Given the description of an element on the screen output the (x, y) to click on. 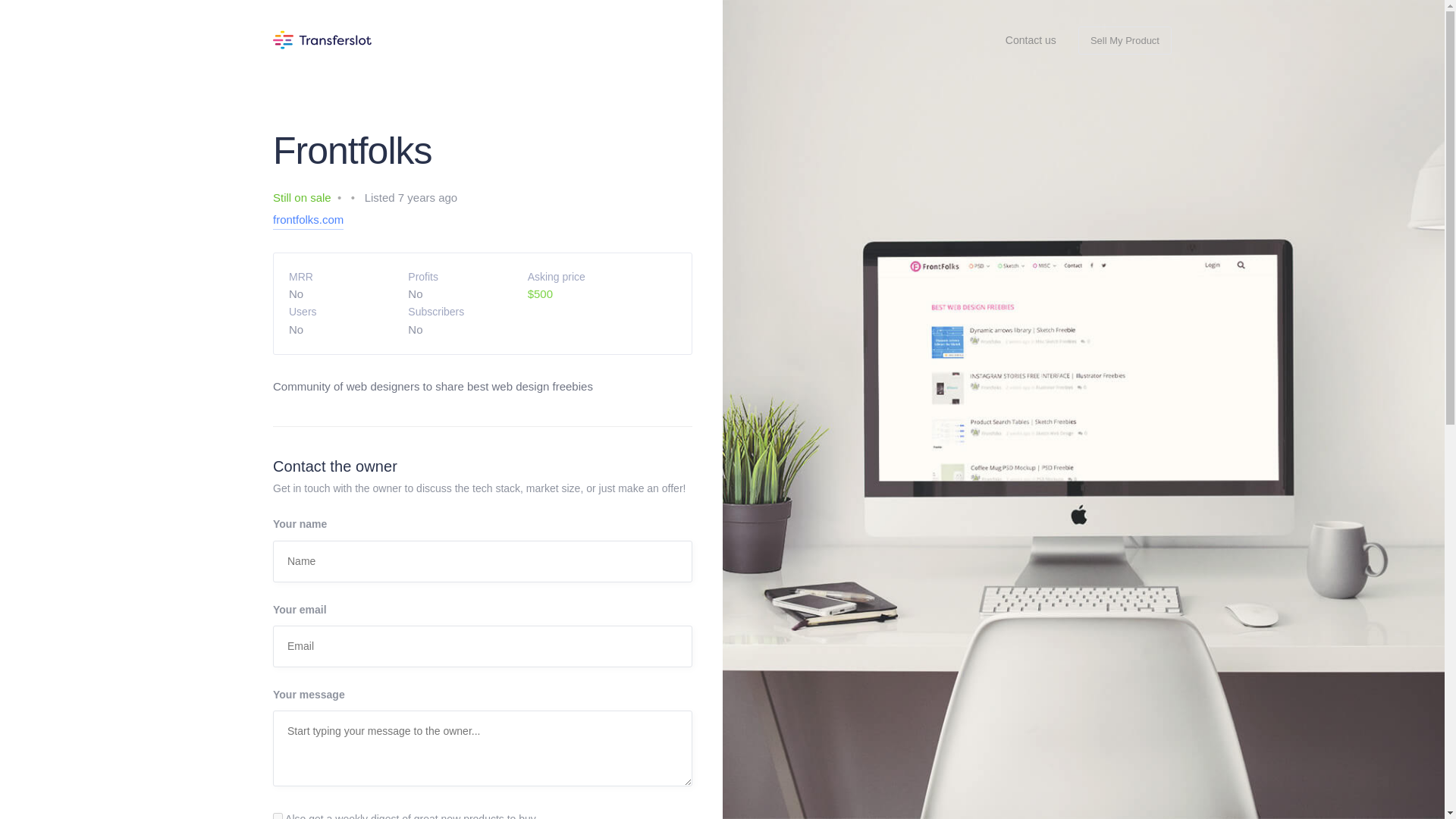
Get in touch with the Transferslot team (1030, 39)
frontfolks.com (308, 220)
1 (277, 816)
Sell My Product (1125, 40)
Contact us (1030, 39)
Submit and put your product up for sale (1125, 40)
